Given the description of an element on the screen output the (x, y) to click on. 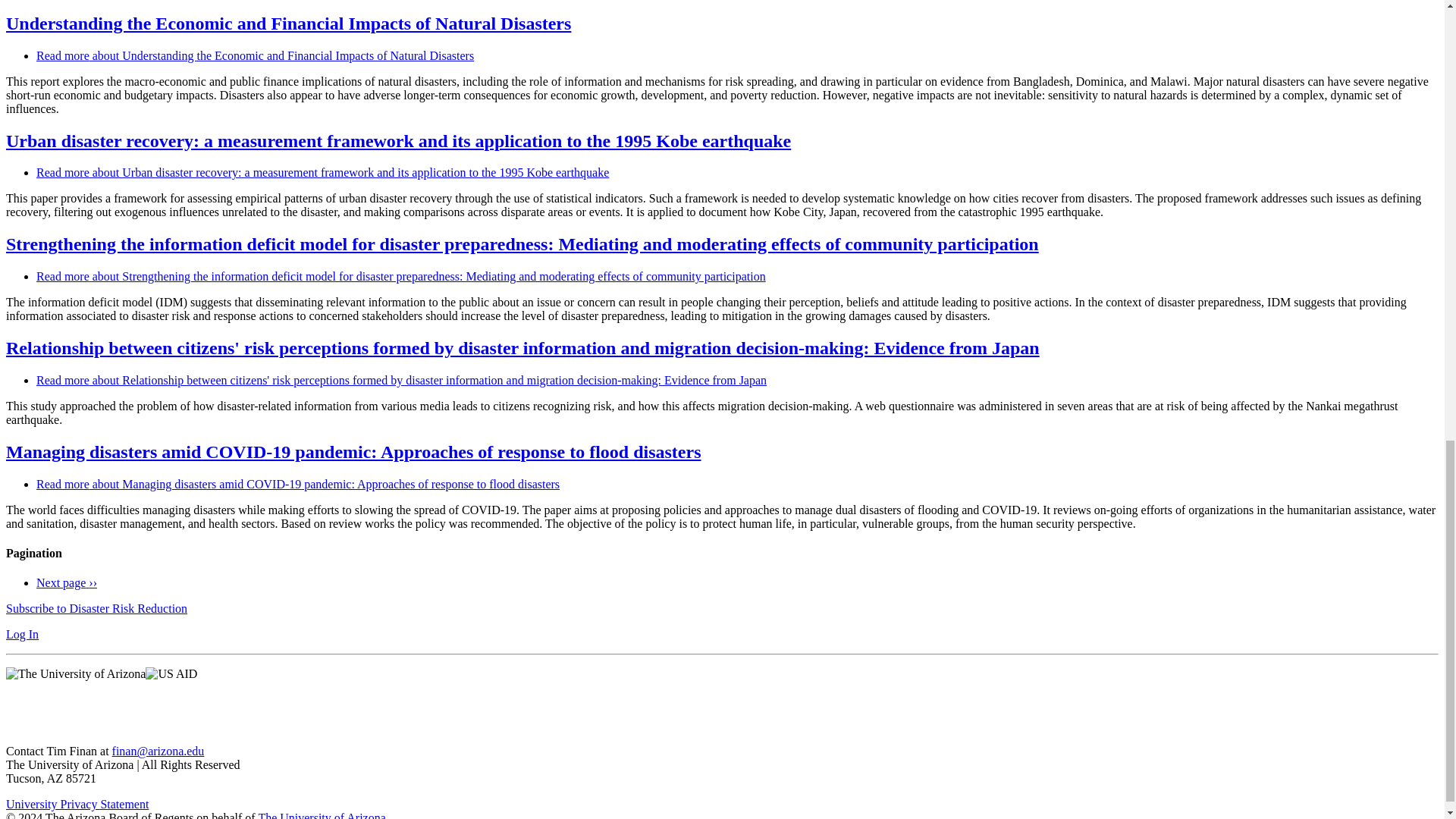
Go to next page (66, 582)
